Given the description of an element on the screen output the (x, y) to click on. 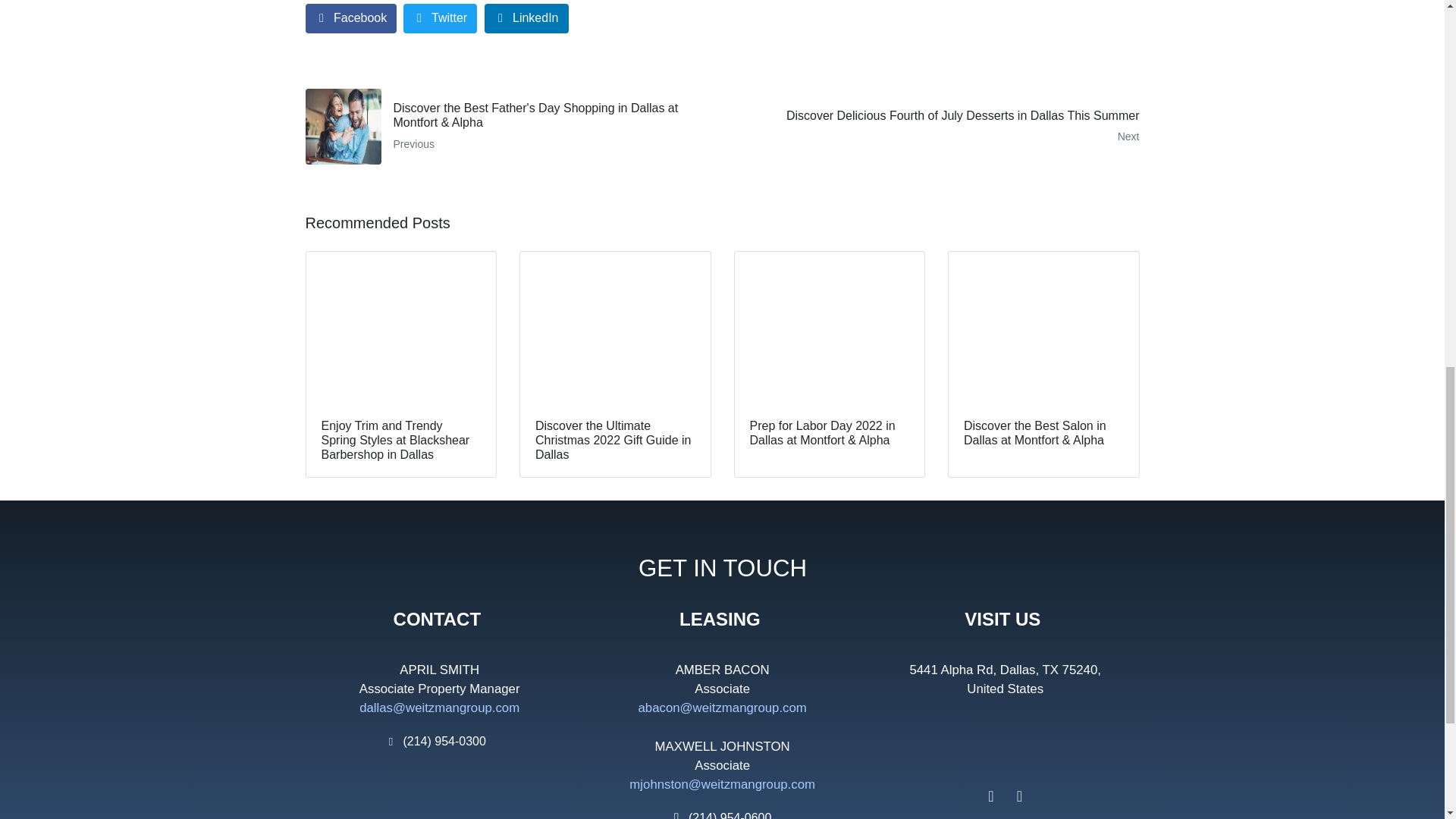
Facebook (350, 18)
LinkedIn (526, 18)
Discover the Ultimate Christmas 2022 Gift Guide in Dallas 3 (614, 327)
Twitter (440, 18)
